Given the description of an element on the screen output the (x, y) to click on. 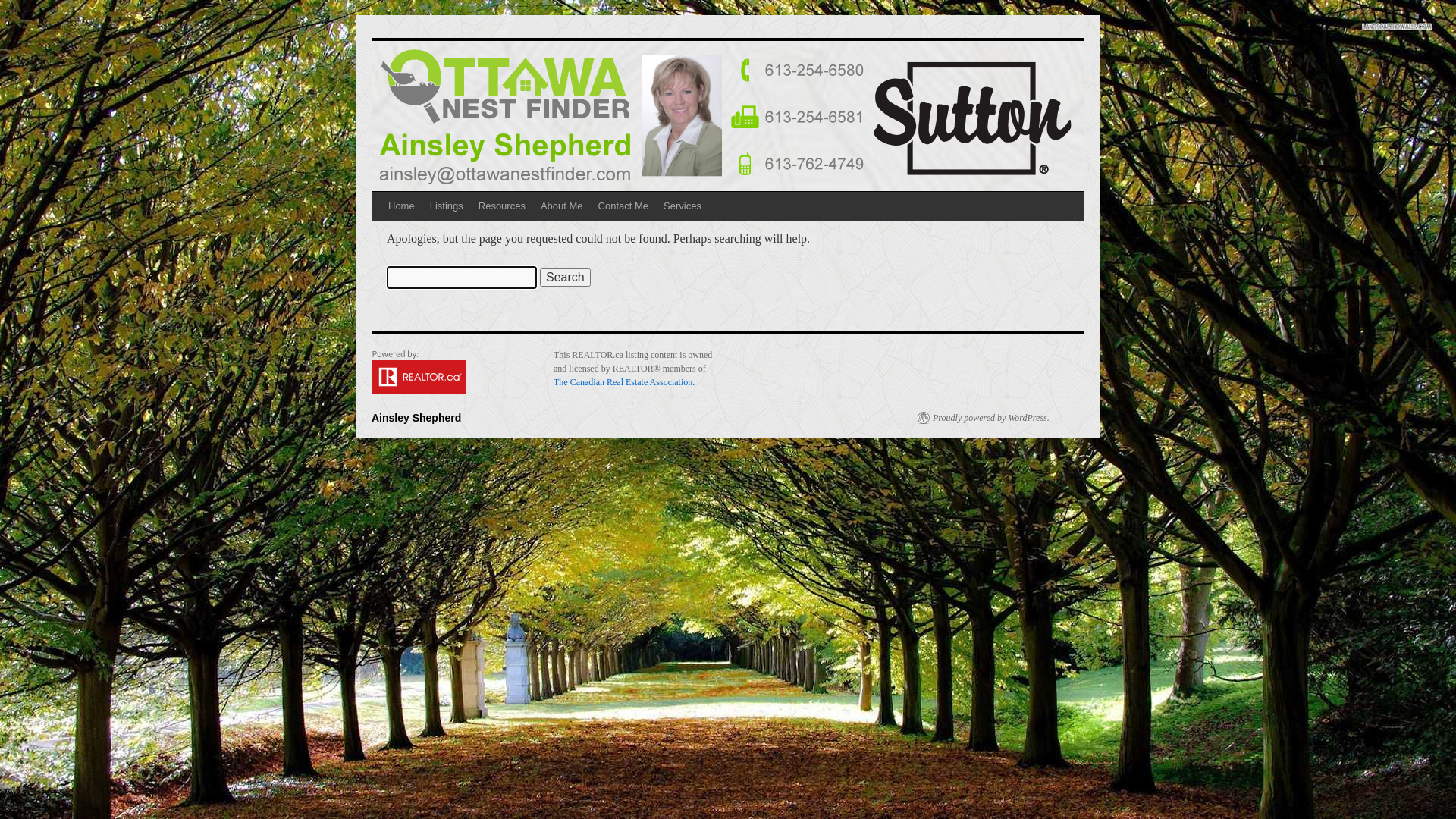
Proudly powered by WordPress. Element type: text (983, 417)
Contact Me Element type: text (622, 205)
Services Element type: text (682, 205)
Listings Element type: text (446, 205)
The Canadian Real Estate Association. Element type: text (623, 381)
Skip to content Element type: text (377, 234)
About Me Element type: text (561, 205)
Resources Element type: text (501, 205)
Search Element type: text (564, 277)
Ainsley Shepherd Element type: text (416, 417)
Home Element type: text (401, 205)
